Given the description of an element on the screen output the (x, y) to click on. 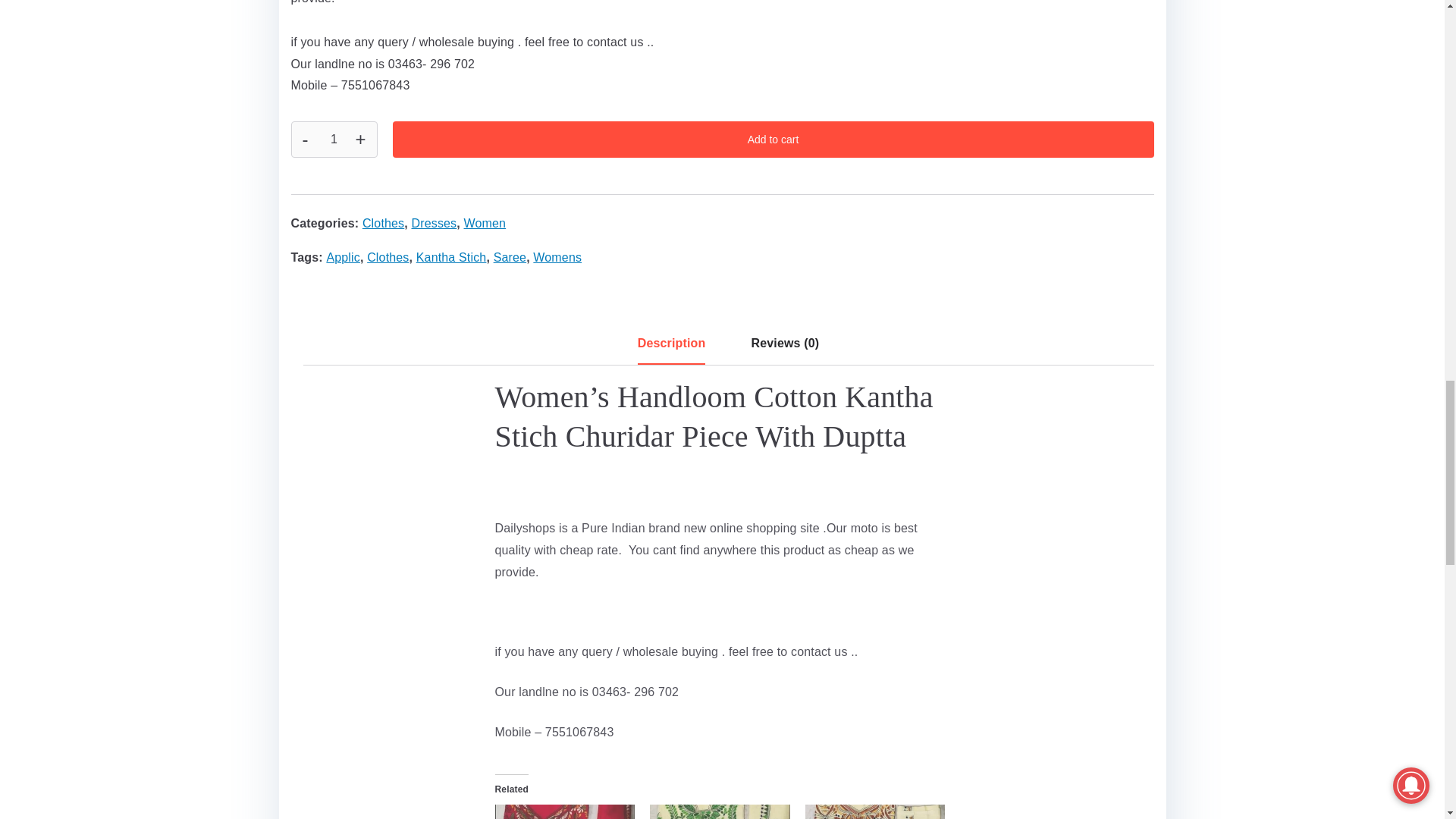
Applic (342, 256)
Description (671, 347)
Clothes (387, 256)
Add to cart (773, 139)
Dresses (433, 223)
Womens (556, 256)
Saree (510, 256)
Clothes (383, 223)
Kantha Stich (451, 256)
Women (485, 223)
